Given the description of an element on the screen output the (x, y) to click on. 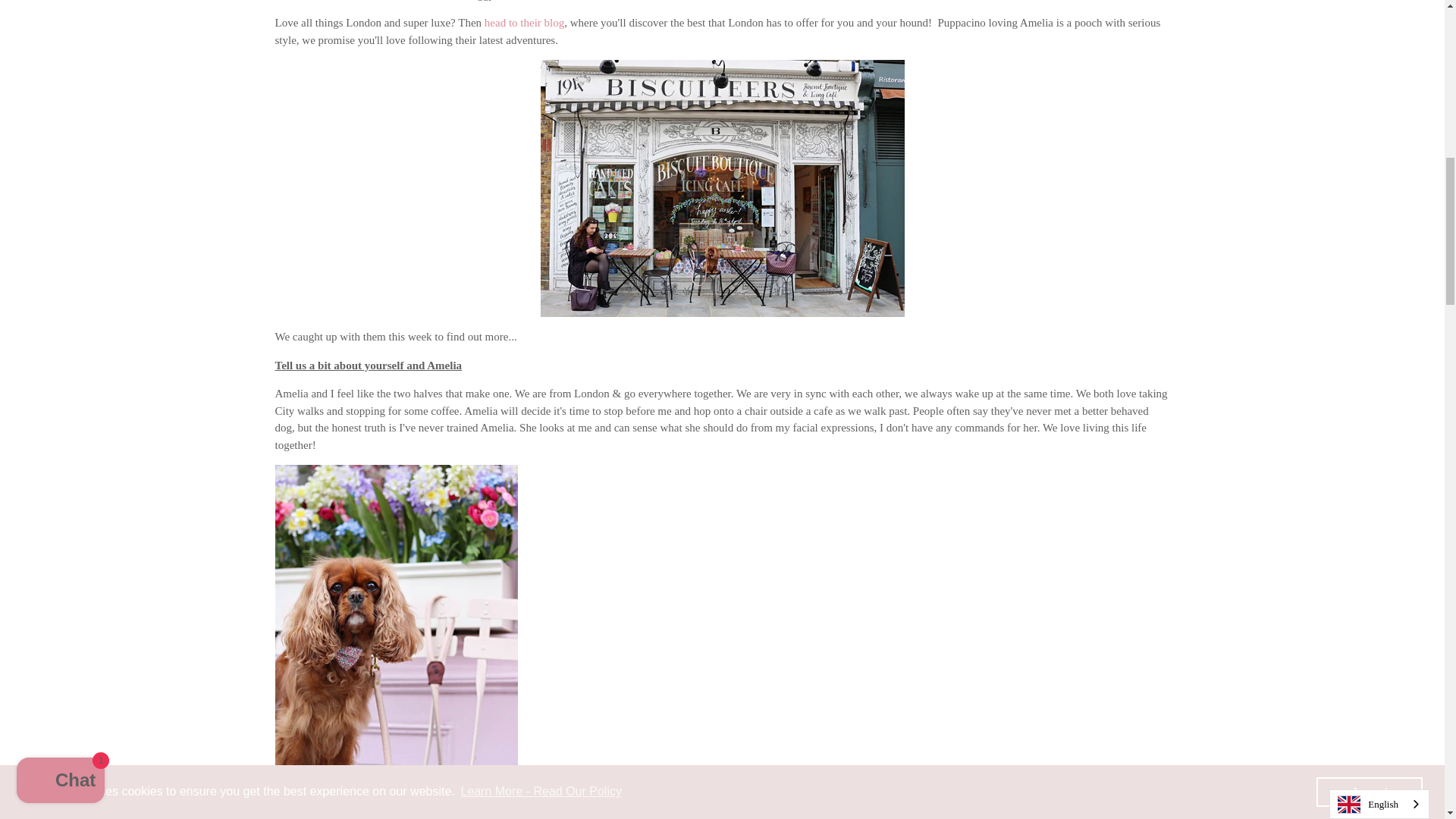
Amelia and Eva (524, 22)
